Given the description of an element on the screen output the (x, y) to click on. 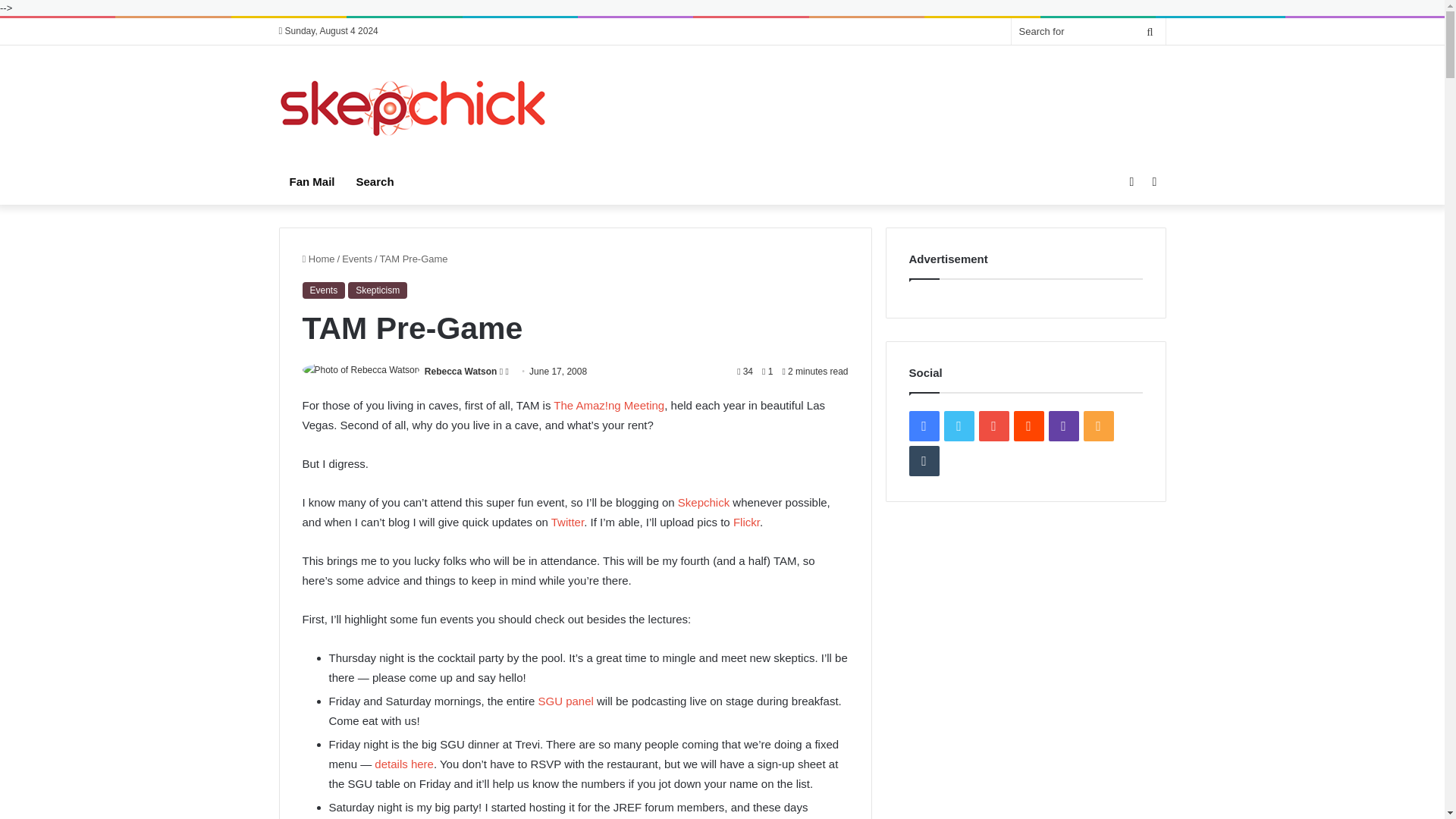
Skepchick (703, 502)
Skepticism (377, 289)
SGU panel (564, 700)
Search for (1088, 31)
Events (357, 258)
Rebecca Watson (461, 371)
Events (323, 289)
Search (375, 181)
Rebecca Watson (461, 371)
Search for (1150, 31)
Flickr (746, 521)
Home (317, 258)
details here (403, 763)
Skepchick (414, 107)
The Amaz!ng Meeting (608, 404)
